Given the description of an element on the screen output the (x, y) to click on. 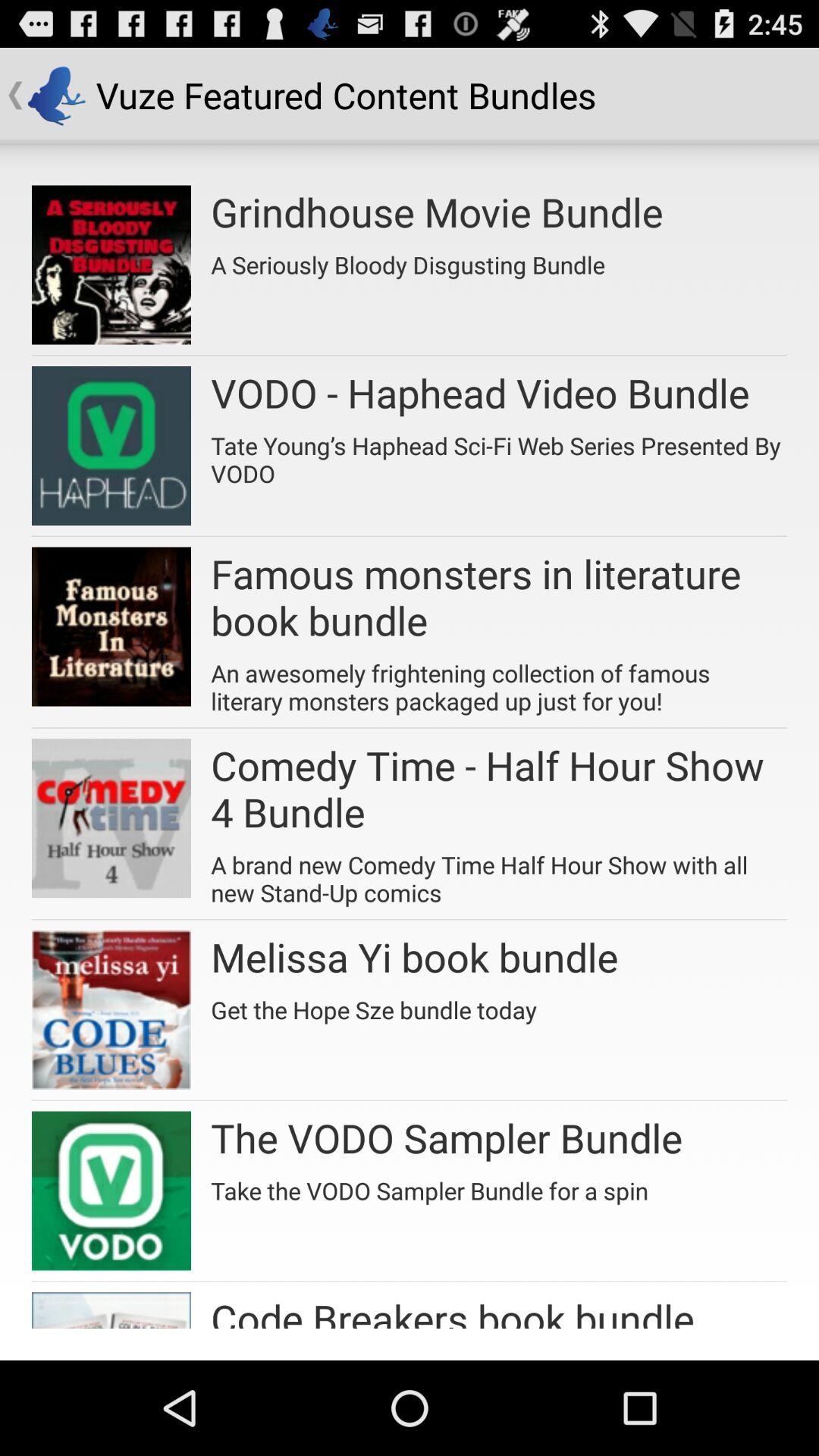
swipe to code breakers book (452, 1310)
